Given the description of an element on the screen output the (x, y) to click on. 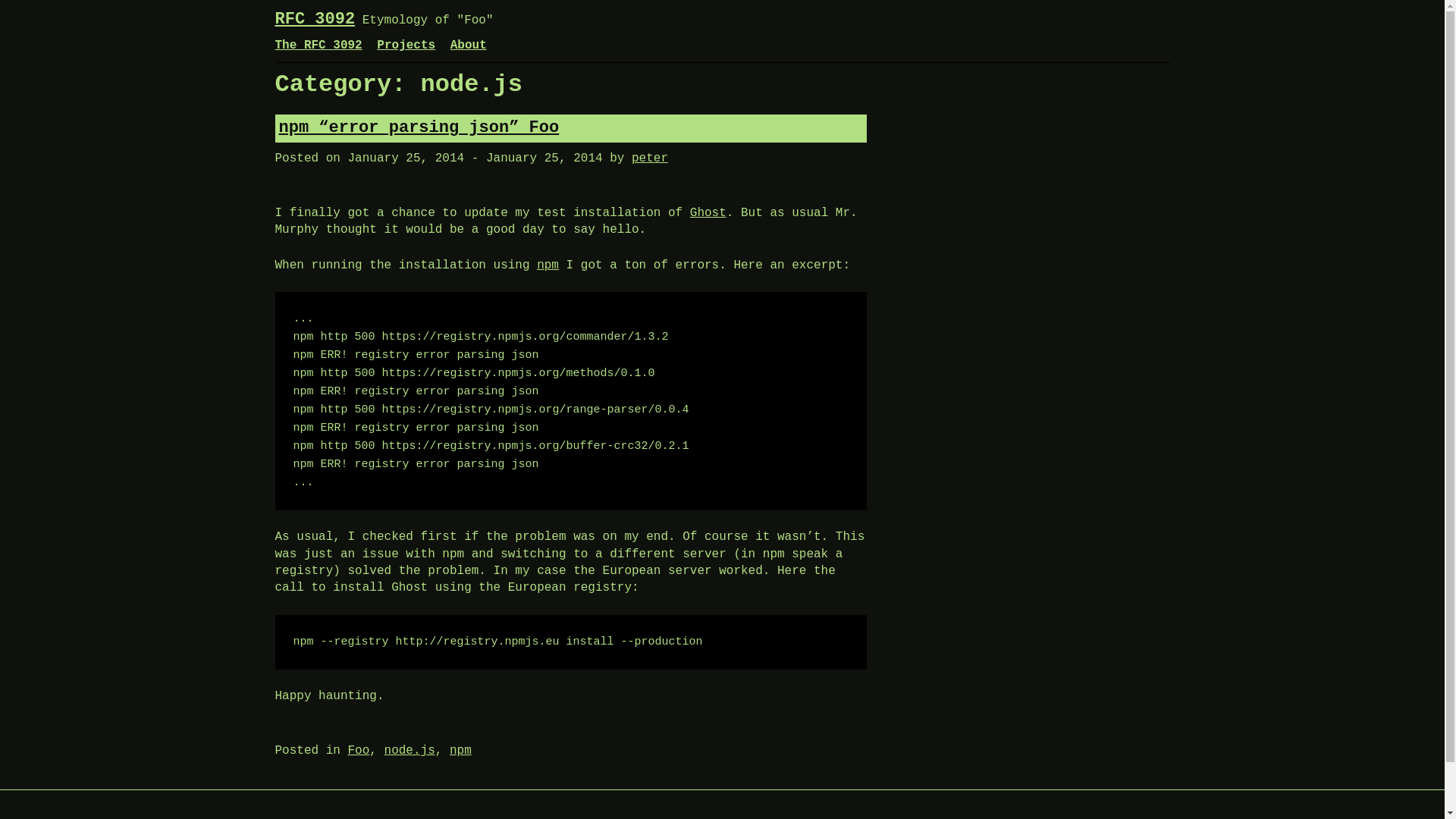
About (467, 45)
Projects (406, 45)
RFC 3092 (315, 18)
The RFC 3092 (318, 45)
npm (548, 264)
Ghost (708, 213)
npm (460, 750)
node.js (409, 750)
Foo (358, 750)
peter (649, 158)
